Given the description of an element on the screen output the (x, y) to click on. 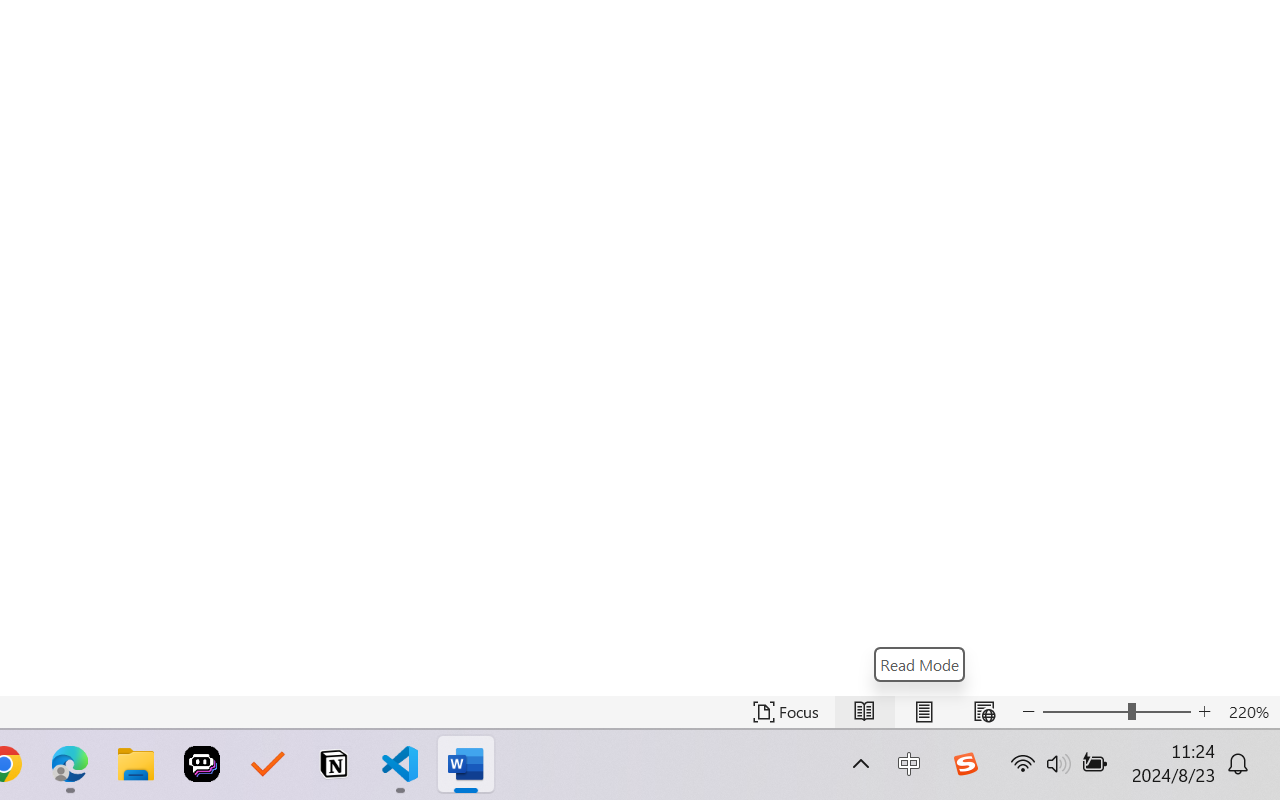
Text Size (1116, 712)
Decrease Text Size (1028, 712)
Increase Text Size (1204, 712)
